Given the description of an element on the screen output the (x, y) to click on. 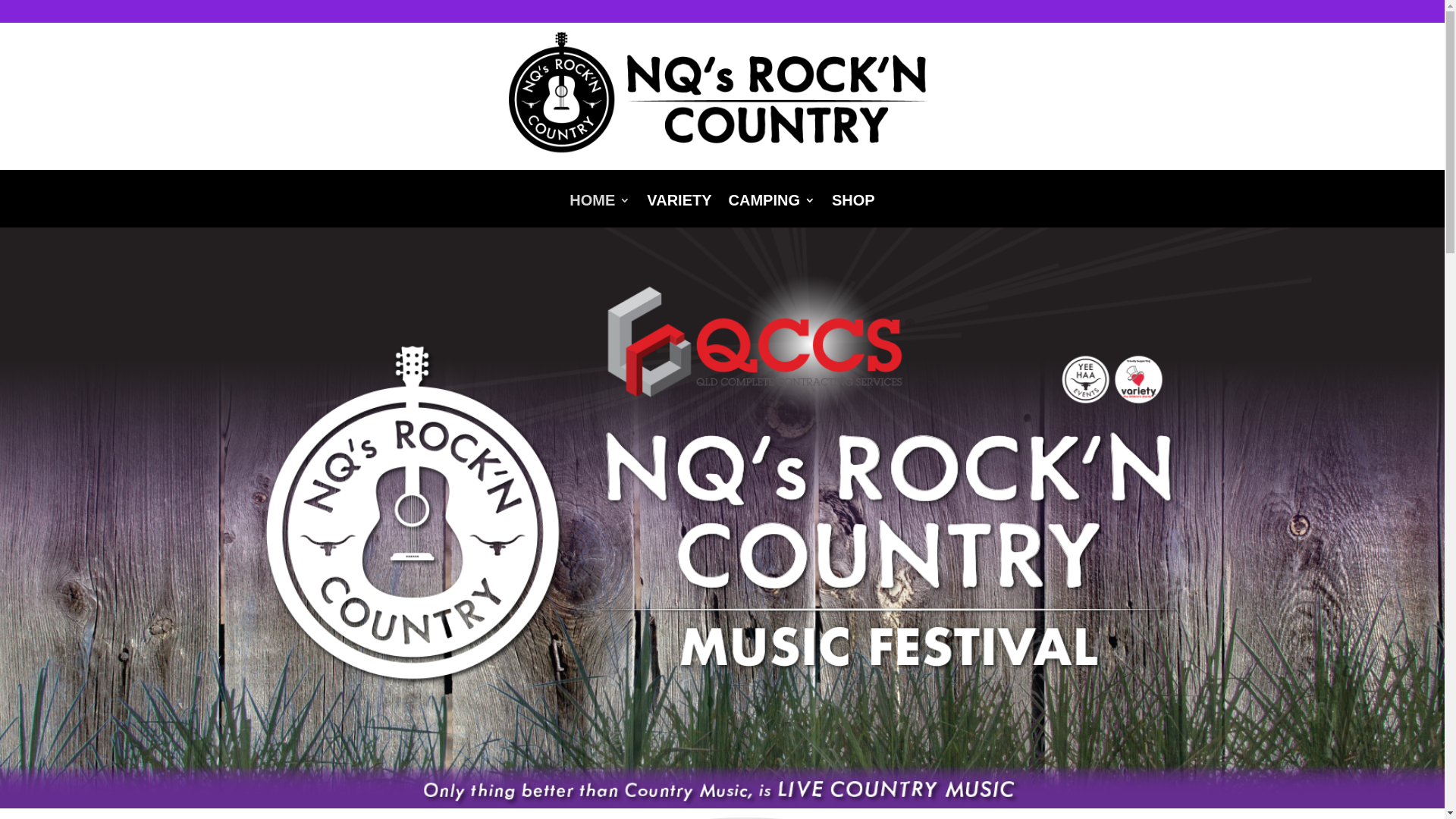
VARIETY Element type: text (678, 210)
SHOP Element type: text (853, 210)
default computer home page banner_ Element type: hover (722, 517)
CAMPING Element type: text (771, 210)
HOME Element type: text (599, 210)
